Given the description of an element on the screen output the (x, y) to click on. 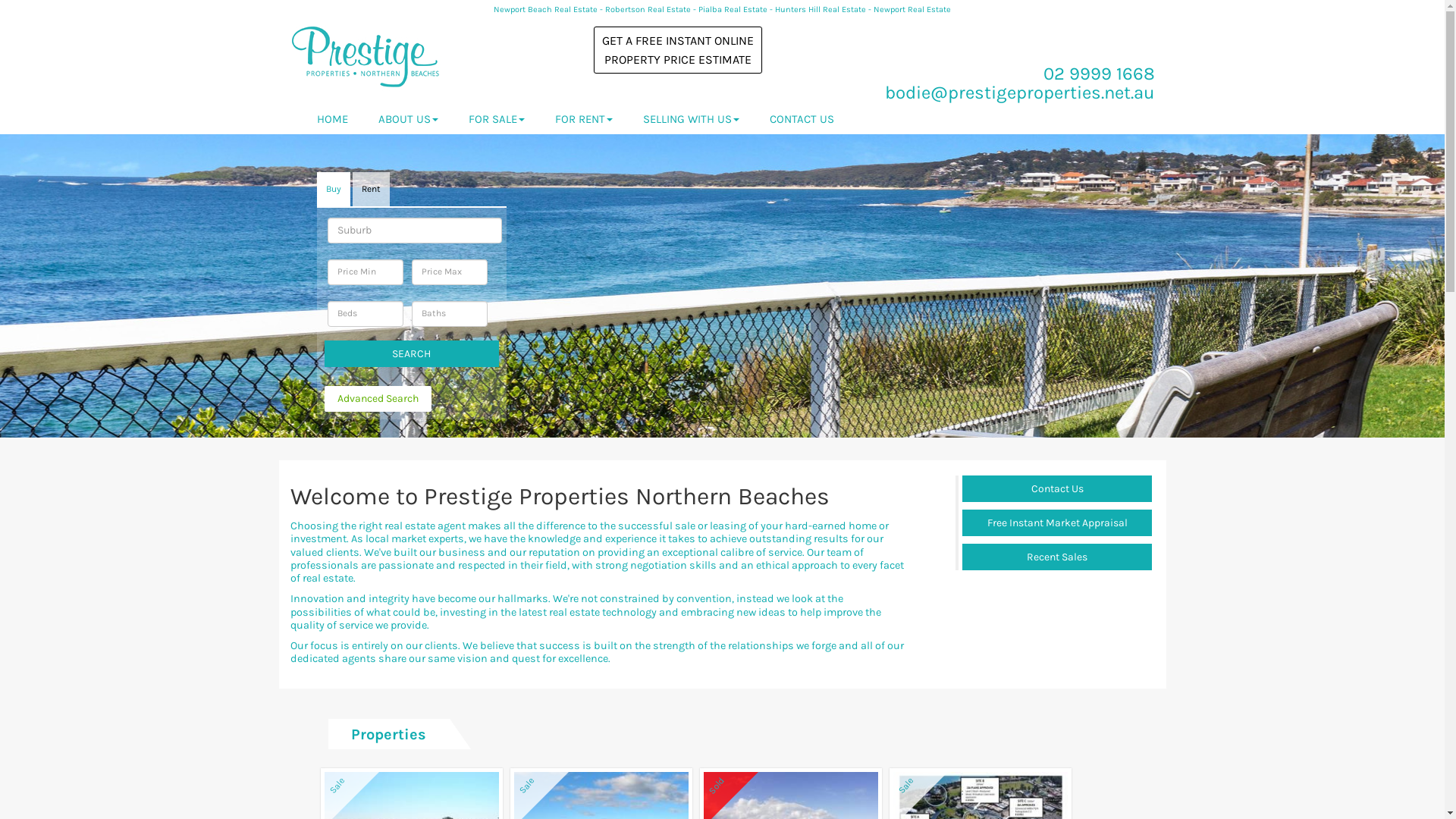
HOME Element type: text (332, 118)
02 9999 1668 Element type: text (1098, 73)
Advanced Search Element type: text (377, 398)
SEARCH Element type: text (411, 353)
CONTACT US Element type: text (800, 118)
Rent Element type: text (370, 189)
ABOUT US Element type: text (407, 118)
FOR SALE Element type: text (496, 118)
FOR RENT Element type: text (583, 118)
Contact Us Element type: text (1056, 488)
Free Instant Market Appraisal Element type: text (1056, 522)
SELLING WITH US Element type: text (690, 118)
Buy Element type: text (333, 189)
Recent Sales Element type: text (1056, 556)
bodie@prestigeproperties.net.au Element type: text (1019, 92)
GET A FREE INSTANT ONLINE
PROPERTY PRICE ESTIMATE Element type: text (677, 49)
Prestige Properties Northern Beaches Logo Element type: hover (365, 56)
